Given the description of an element on the screen output the (x, y) to click on. 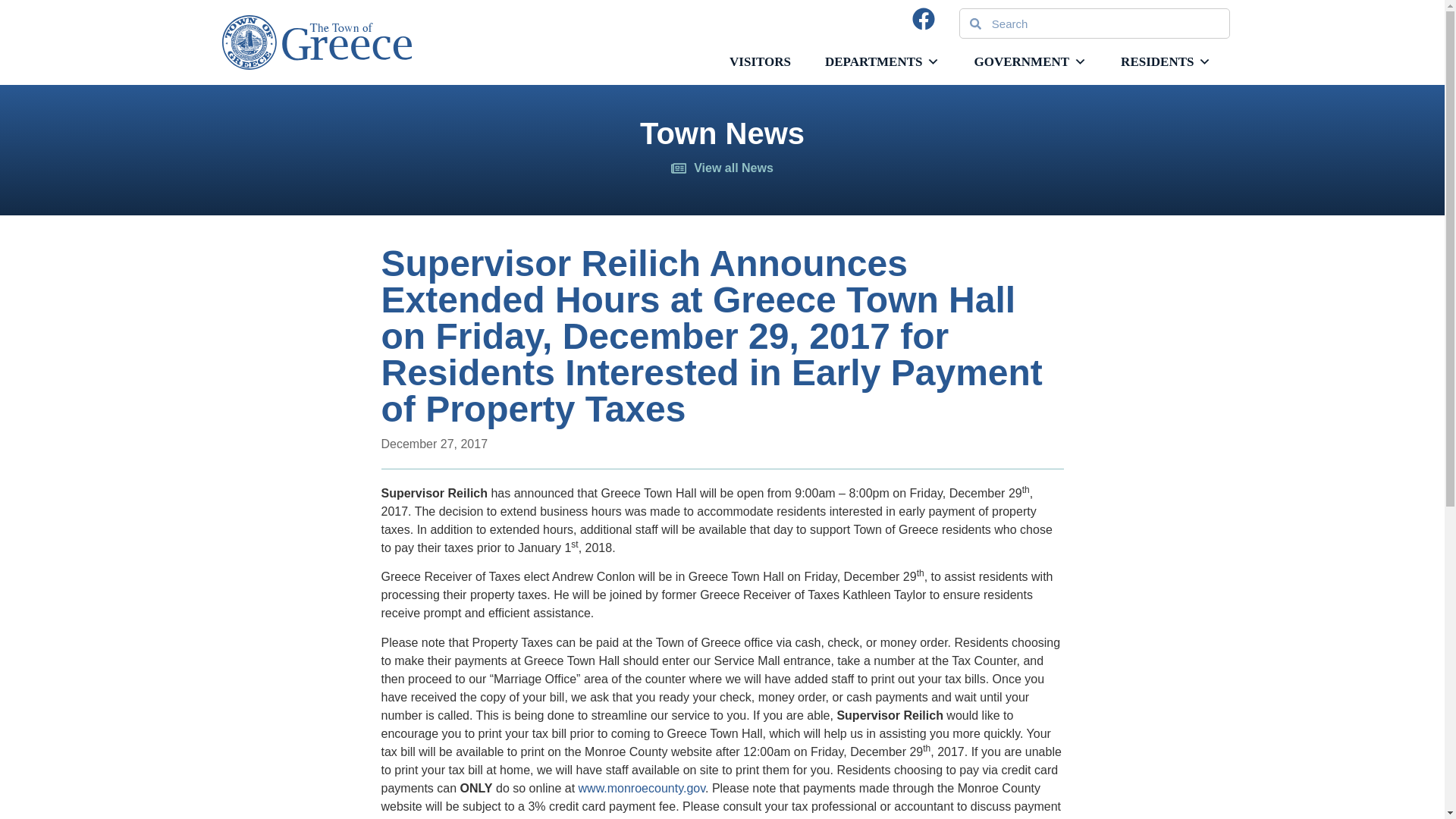
VISITORS (760, 61)
DEPARTMENTS (882, 61)
